Given the description of an element on the screen output the (x, y) to click on. 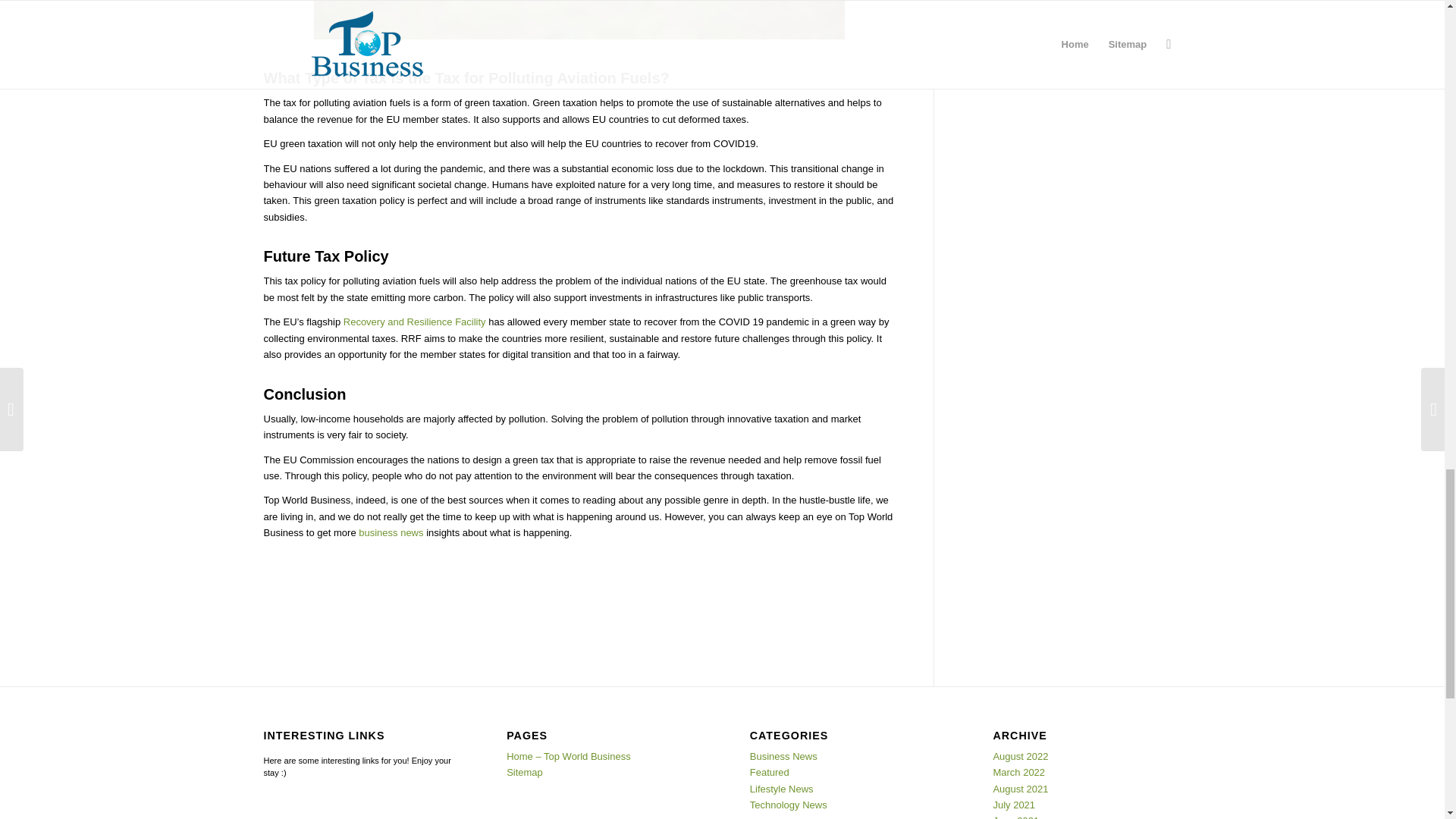
Recovery and Resilience Facility (414, 321)
Recovery and Resilience Facility (414, 321)
business news (390, 532)
